Given the description of an element on the screen output the (x, y) to click on. 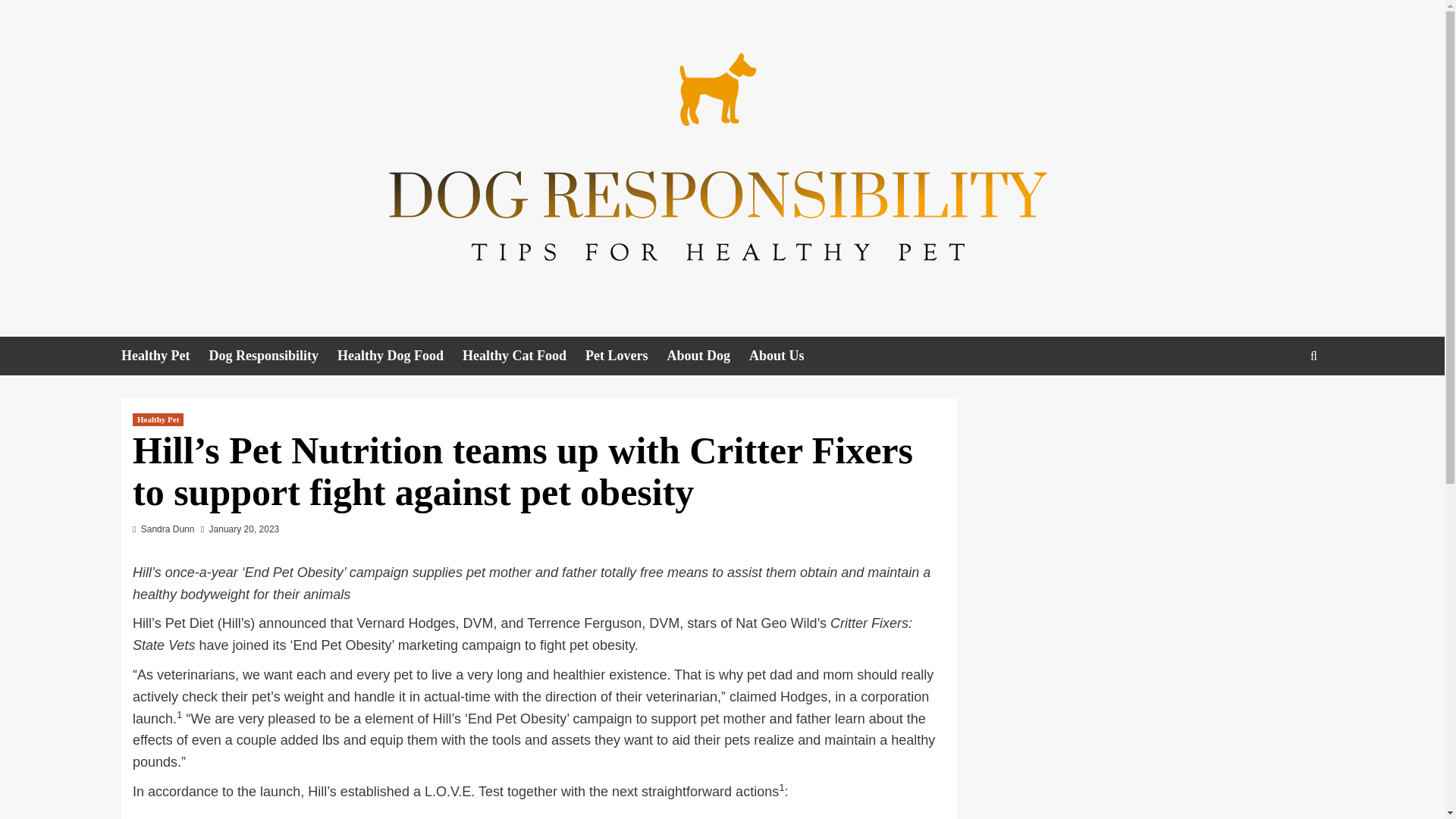
Healthy Pet (157, 419)
Search (1278, 401)
About Dog (707, 355)
January 20, 2023 (244, 529)
Dog Responsibility (272, 355)
About Us (786, 355)
Sandra Dunn (168, 529)
Pet Lovers (625, 355)
Healthy Pet (164, 355)
Healthy Dog Food (400, 355)
Healthy Cat Food (524, 355)
